Given the description of an element on the screen output the (x, y) to click on. 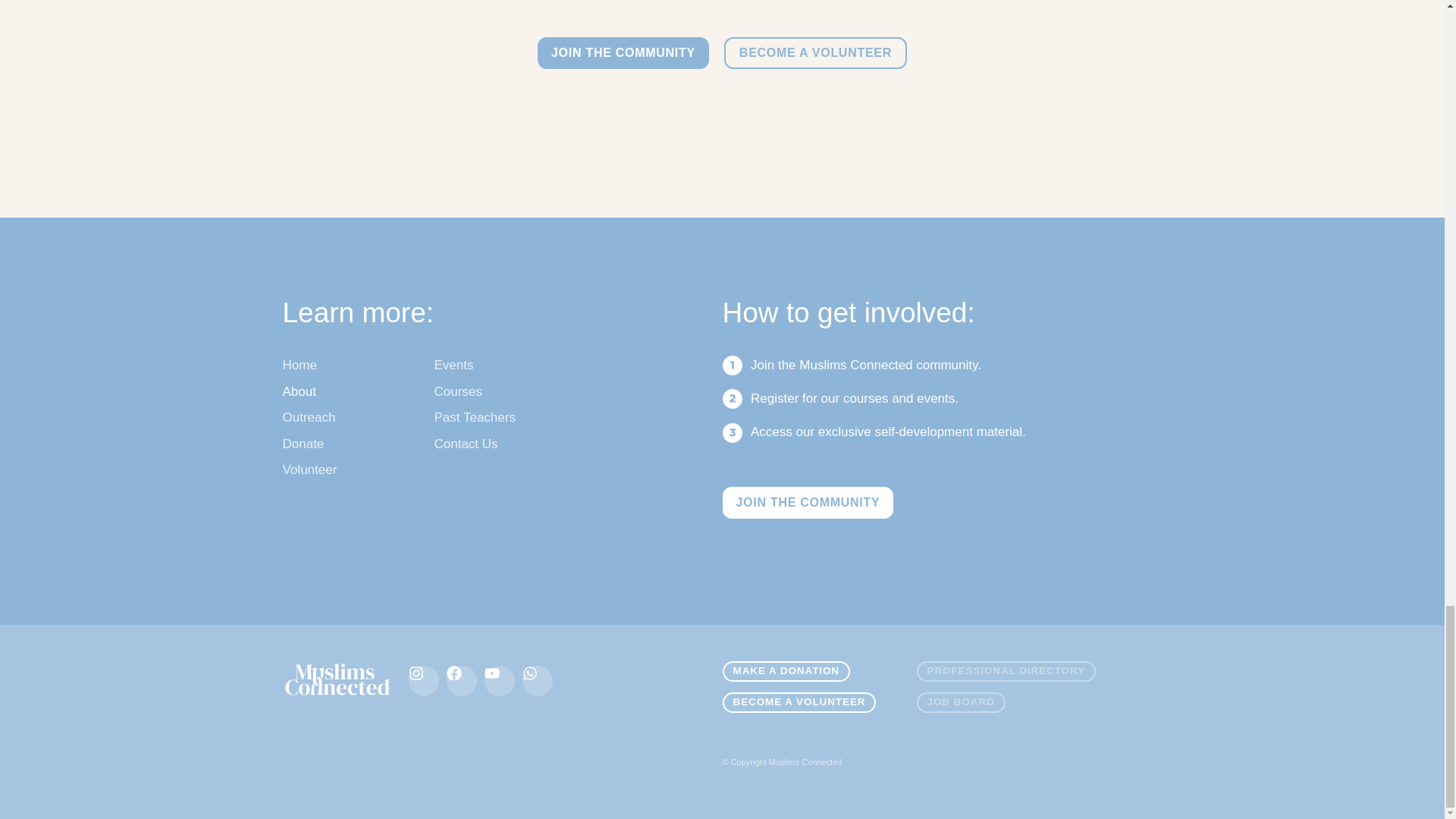
JOIN THE COMMUNITY (807, 502)
Events (457, 365)
Volunteer (309, 470)
Courses (457, 392)
coming soon (1010, 676)
Home (309, 365)
About (309, 392)
Past Teachers (474, 417)
Contact Us (474, 444)
Donate (309, 444)
